Given the description of an element on the screen output the (x, y) to click on. 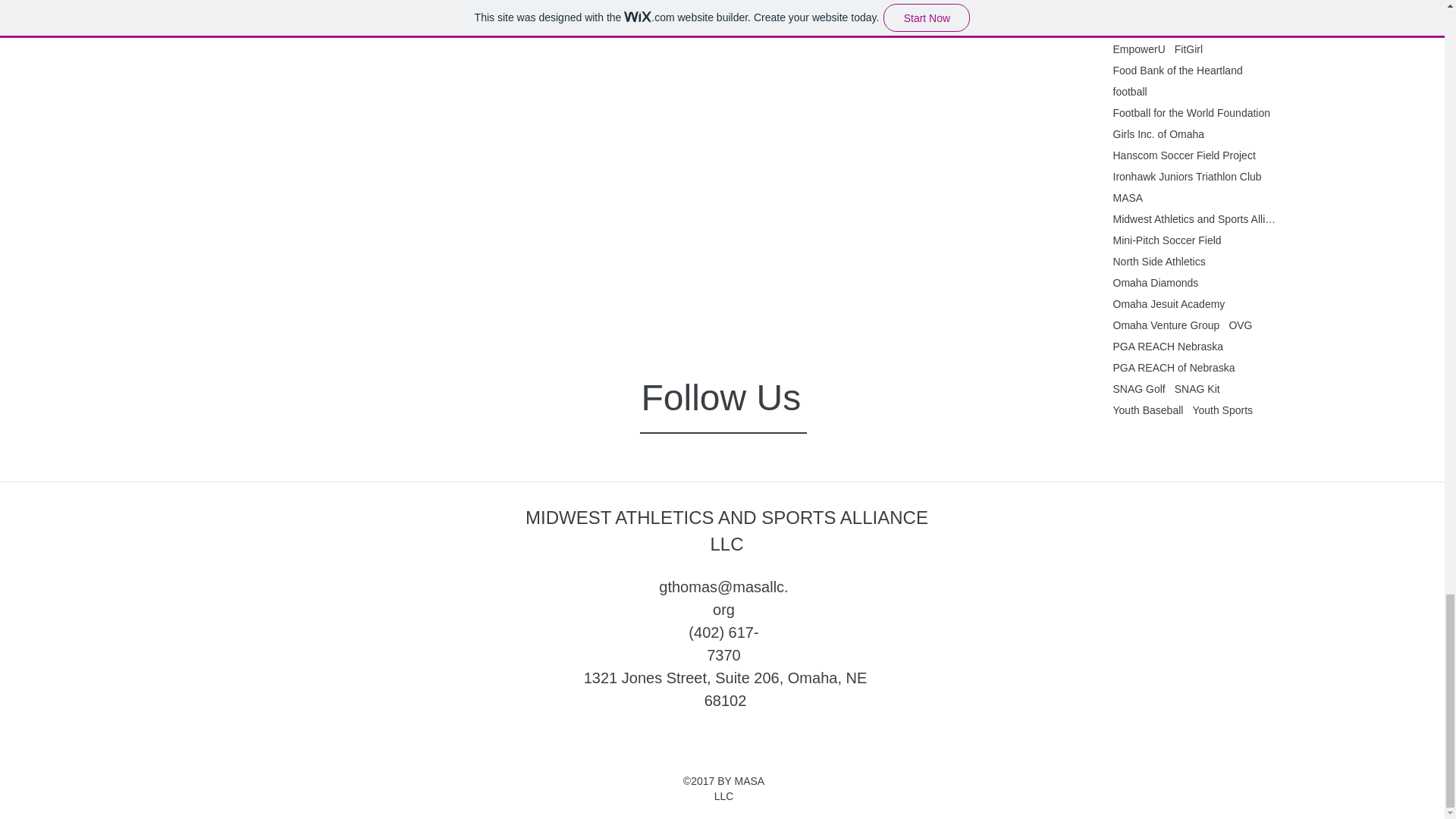
football (1130, 91)
Completely KIDS (1224, 28)
Celebrity Fight Night (1161, 6)
Child Hunger (1143, 28)
EmpowerU (1139, 49)
Food Bank of the Heartland (1178, 70)
Football for the World Foundation (1192, 112)
FitGirl (1188, 49)
